Given the description of an element on the screen output the (x, y) to click on. 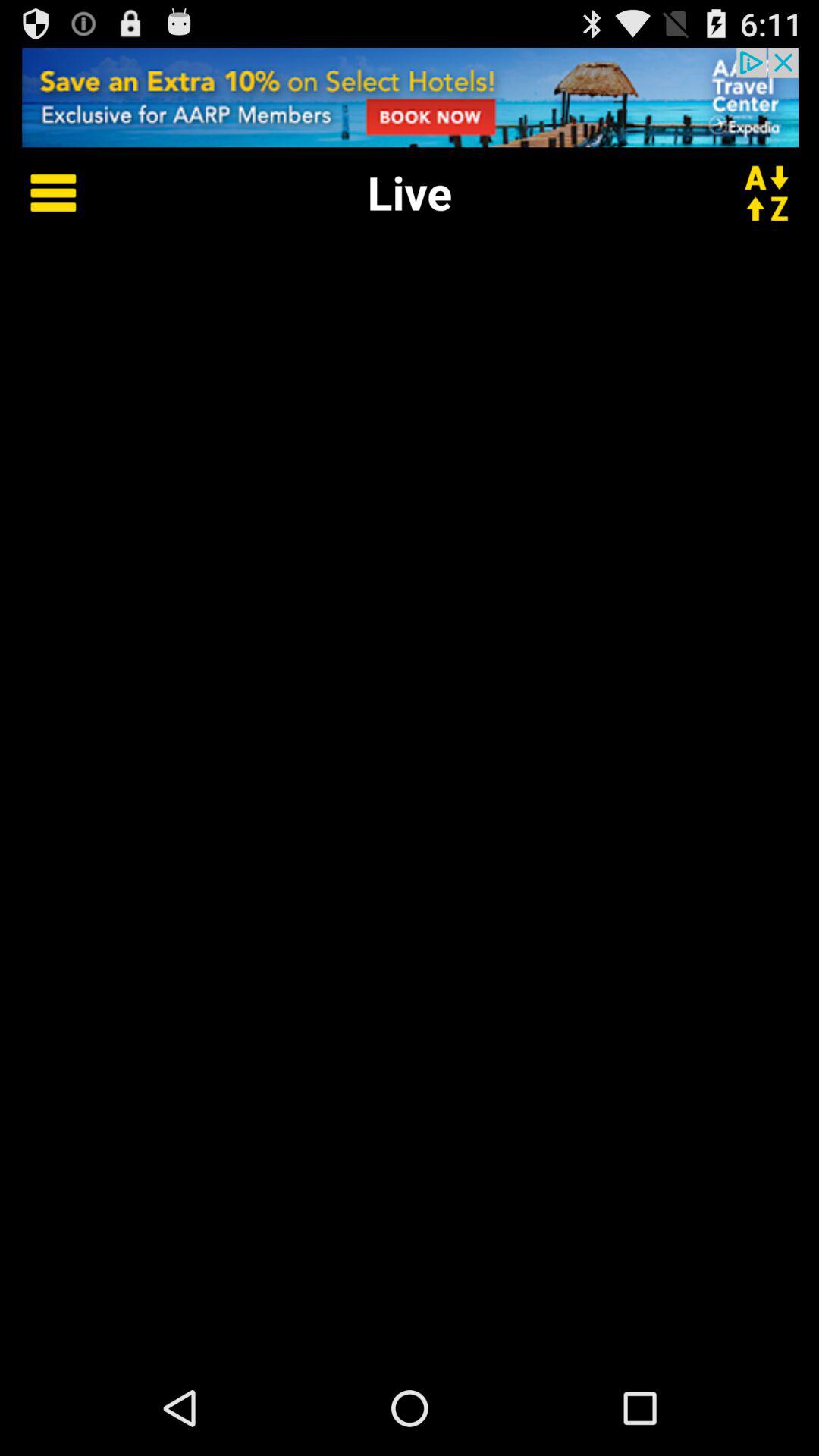
sort alphabetically (776, 192)
